Given the description of an element on the screen output the (x, y) to click on. 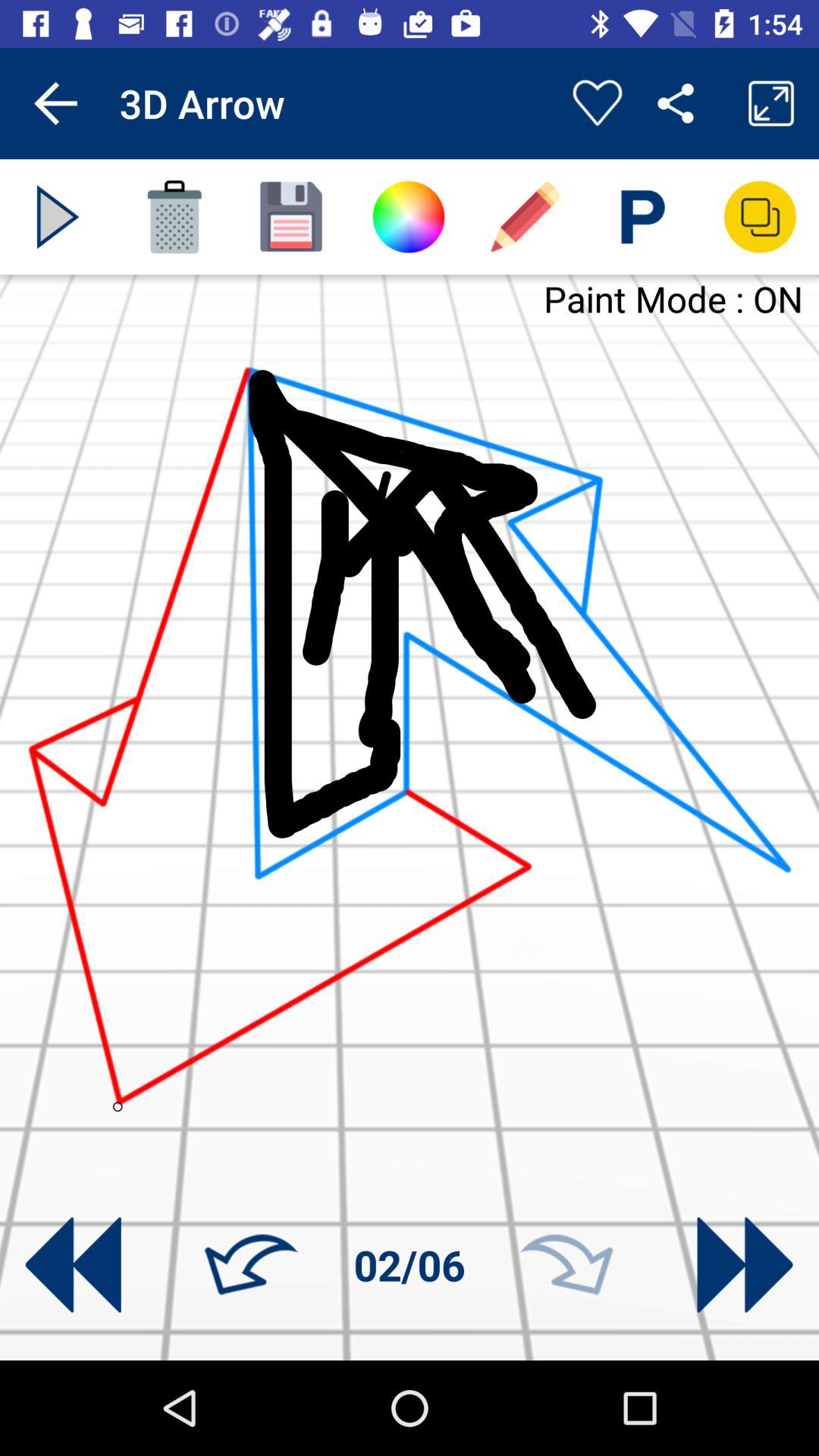
save (291, 216)
